Given the description of an element on the screen output the (x, y) to click on. 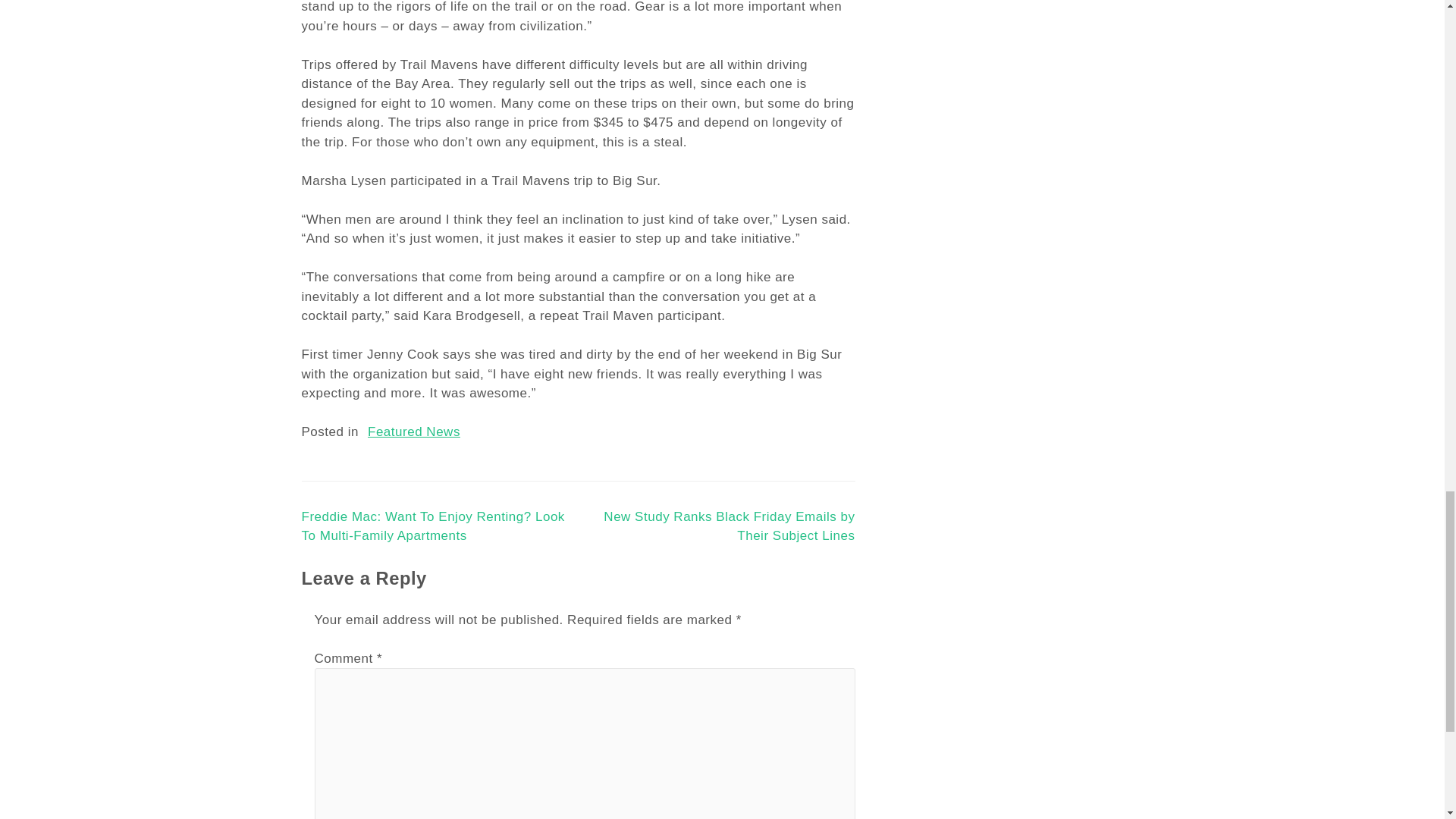
New Study Ranks Black Friday Emails by Their Subject Lines (729, 527)
Featured News (414, 431)
